Given the description of an element on the screen output the (x, y) to click on. 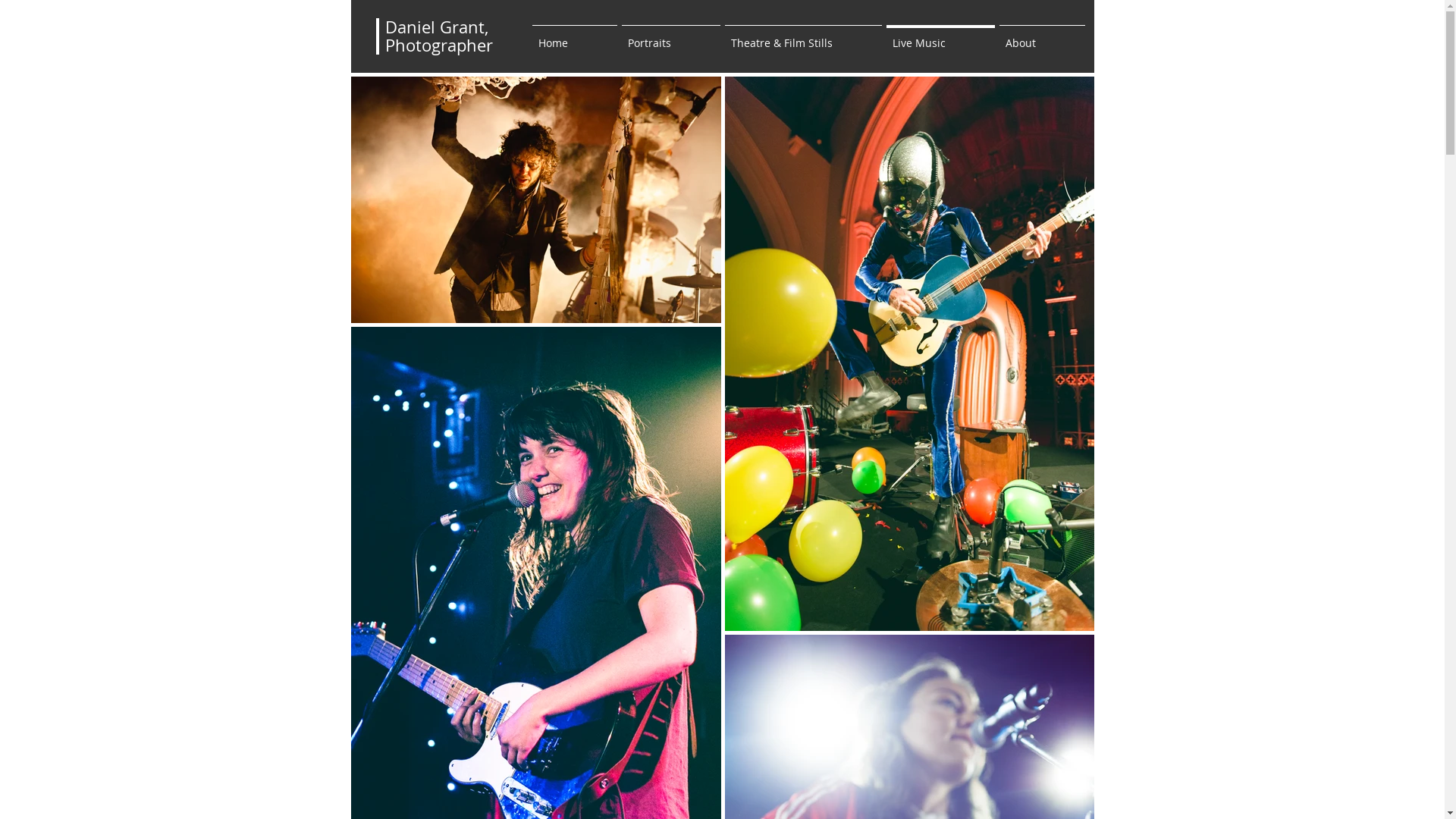
Home Element type: text (573, 36)
About Element type: text (1041, 36)
Live Music Element type: text (940, 36)
Portraits Element type: text (669, 36)
Theatre & Film Stills Element type: text (802, 36)
Daniel Grant, Photographer Element type: text (438, 35)
